Given the description of an element on the screen output the (x, y) to click on. 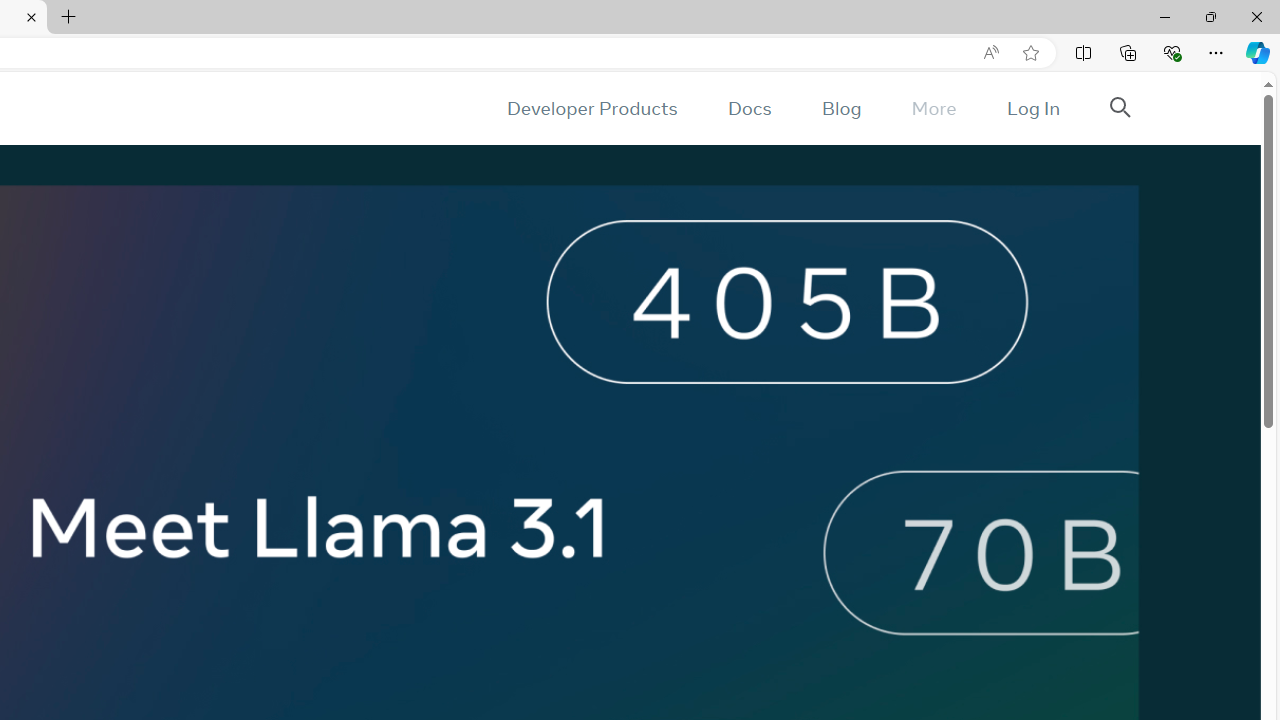
Developer Products (591, 108)
Log In (1032, 108)
